Given the description of an element on the screen output the (x, y) to click on. 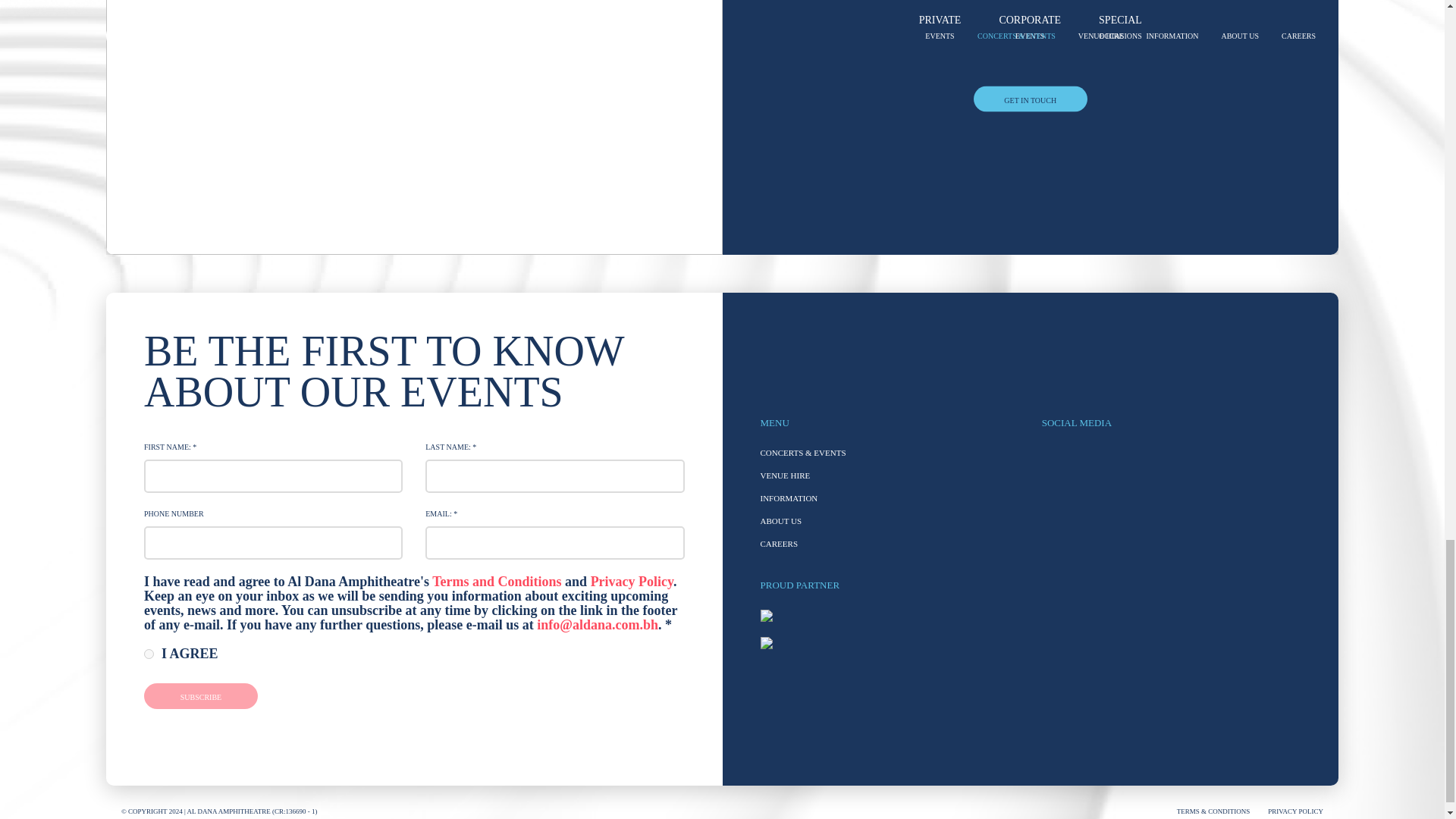
Subscribe (200, 696)
I Agree (149, 654)
